Given the description of an element on the screen output the (x, y) to click on. 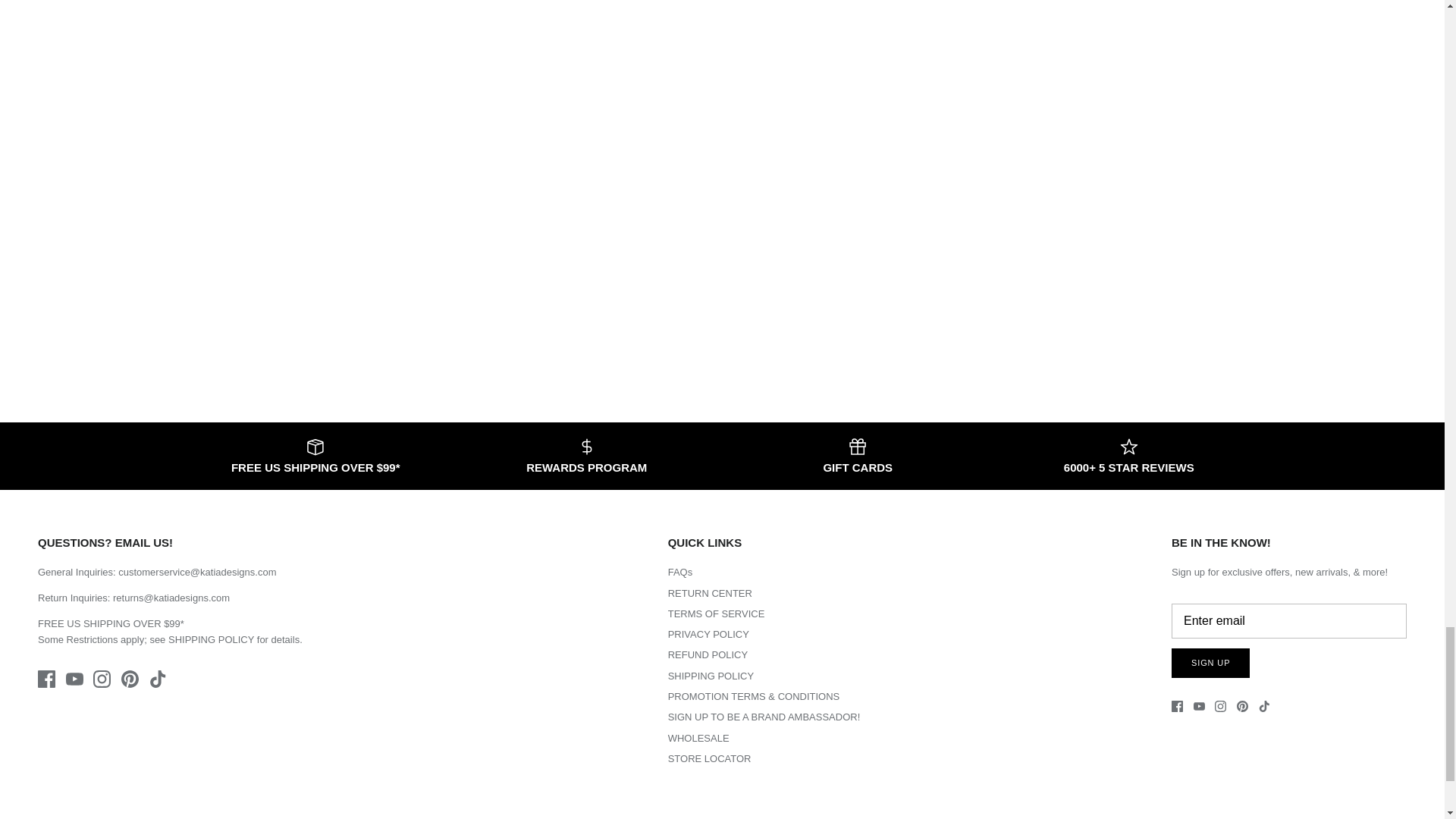
Shipping Policy (210, 639)
